Given the description of an element on the screen output the (x, y) to click on. 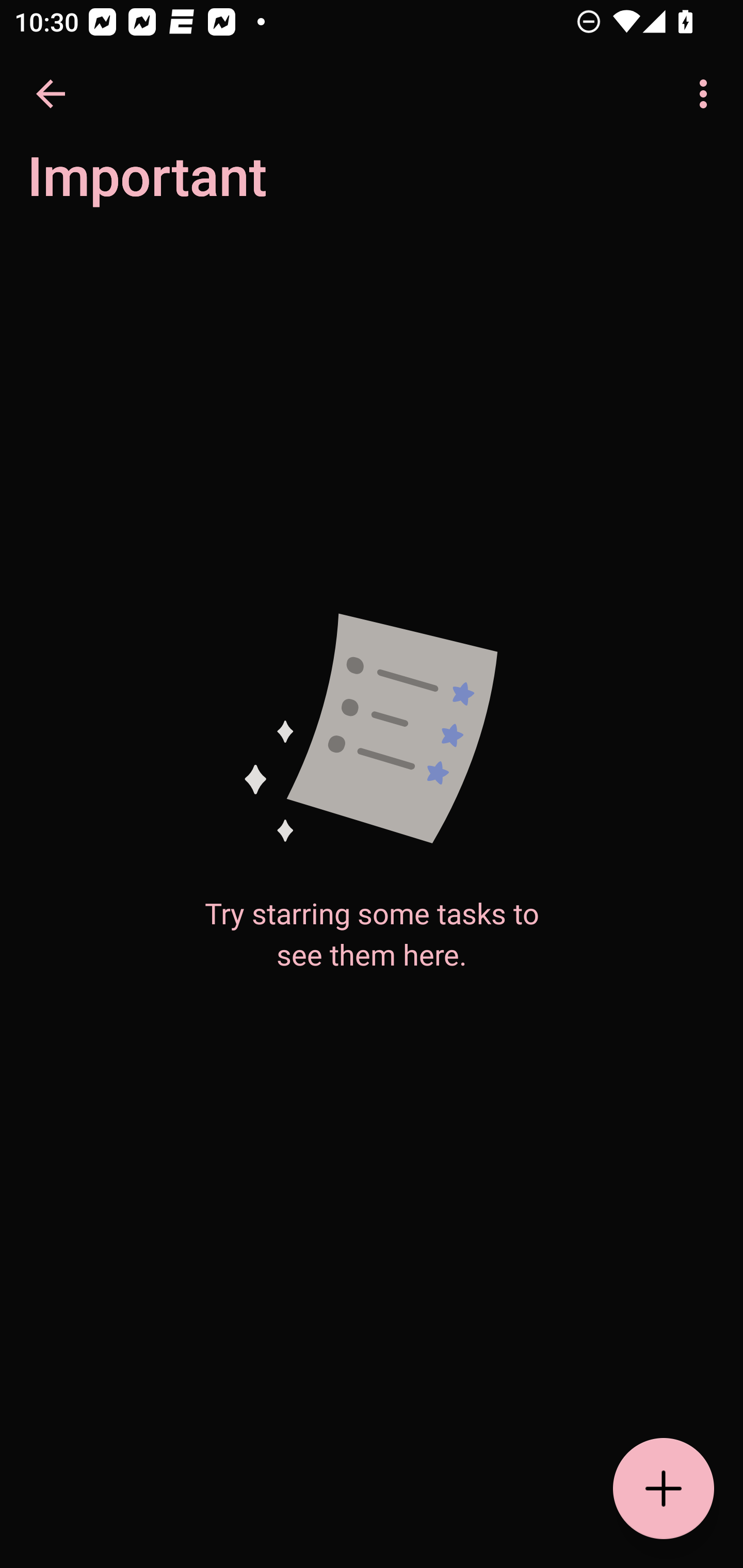
Back (50, 93)
More options (706, 93)
My Day, 0 tasks (182, 187)
Add a task (663, 1488)
